Given the description of an element on the screen output the (x, y) to click on. 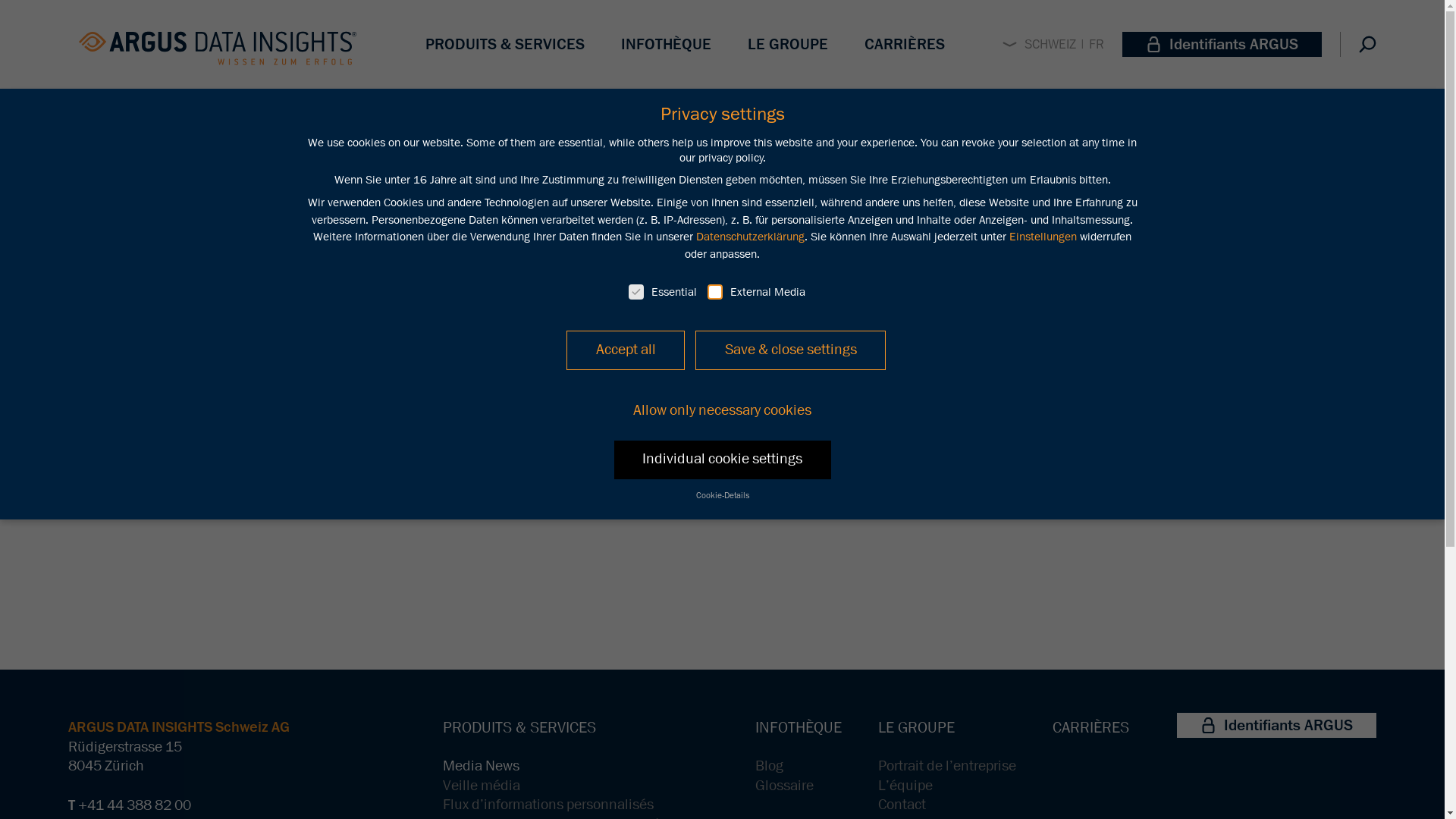
T +41 44 388 82 00 Element type: text (129, 805)
Individual cookie settings Element type: text (722, 459)
Cookie-Details Element type: text (722, 495)
Einstellungen Element type: text (1042, 236)
Identifiants ARGUS Element type: text (1221, 43)
Media News Element type: text (480, 765)
Allow only necessary cookies Element type: text (722, 411)
Blog Element type: text (769, 765)
Glossaire Element type: text (784, 785)
Accept all Element type: text (625, 350)
Save & close settings Element type: text (790, 350)
Contact Element type: text (901, 804)
Identifiants ARGUS Element type: text (1276, 724)
